Given the description of an element on the screen output the (x, y) to click on. 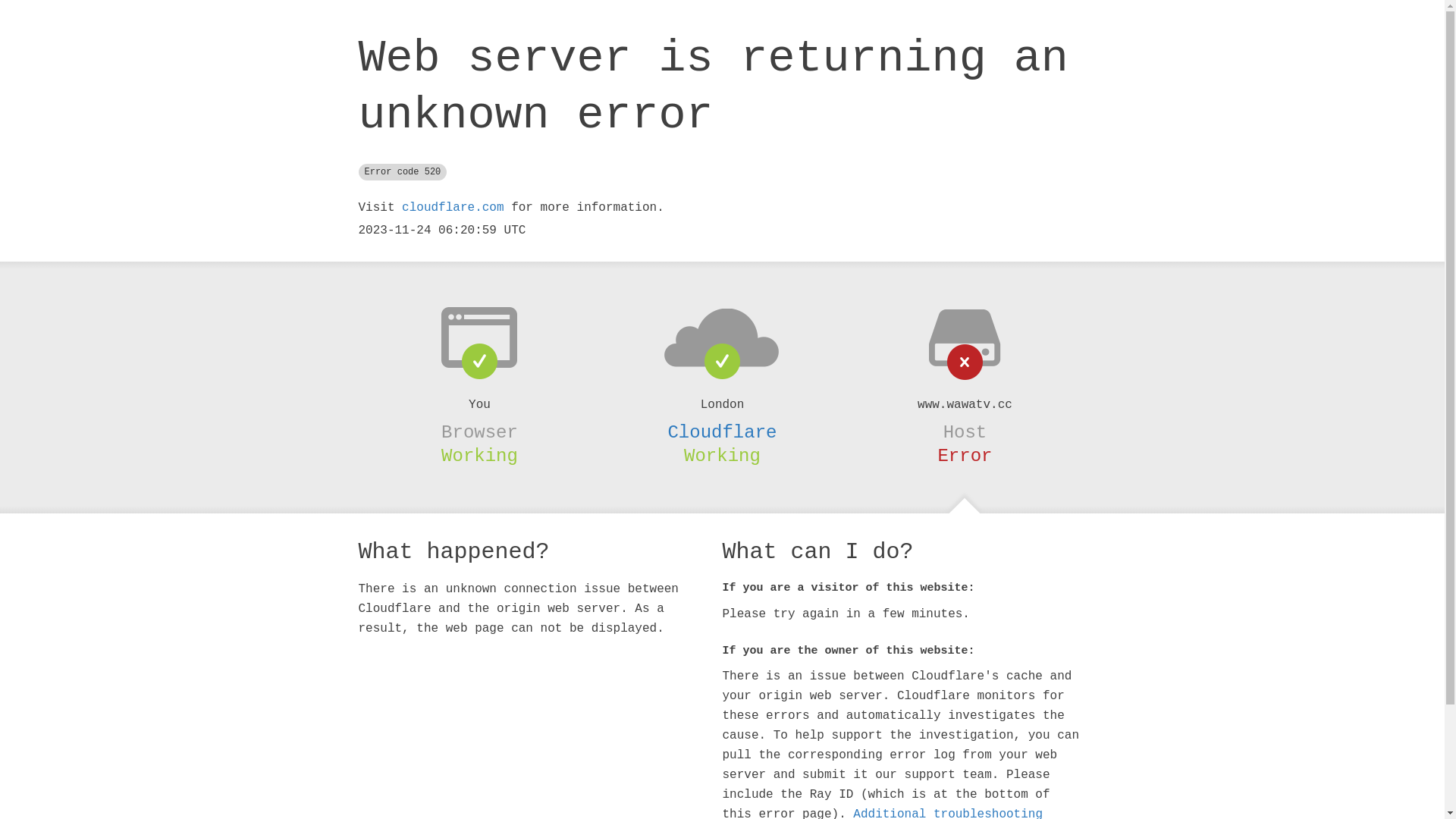
cloudflare.com Element type: text (452, 207)
Cloudflare Element type: text (721, 432)
